Given the description of an element on the screen output the (x, y) to click on. 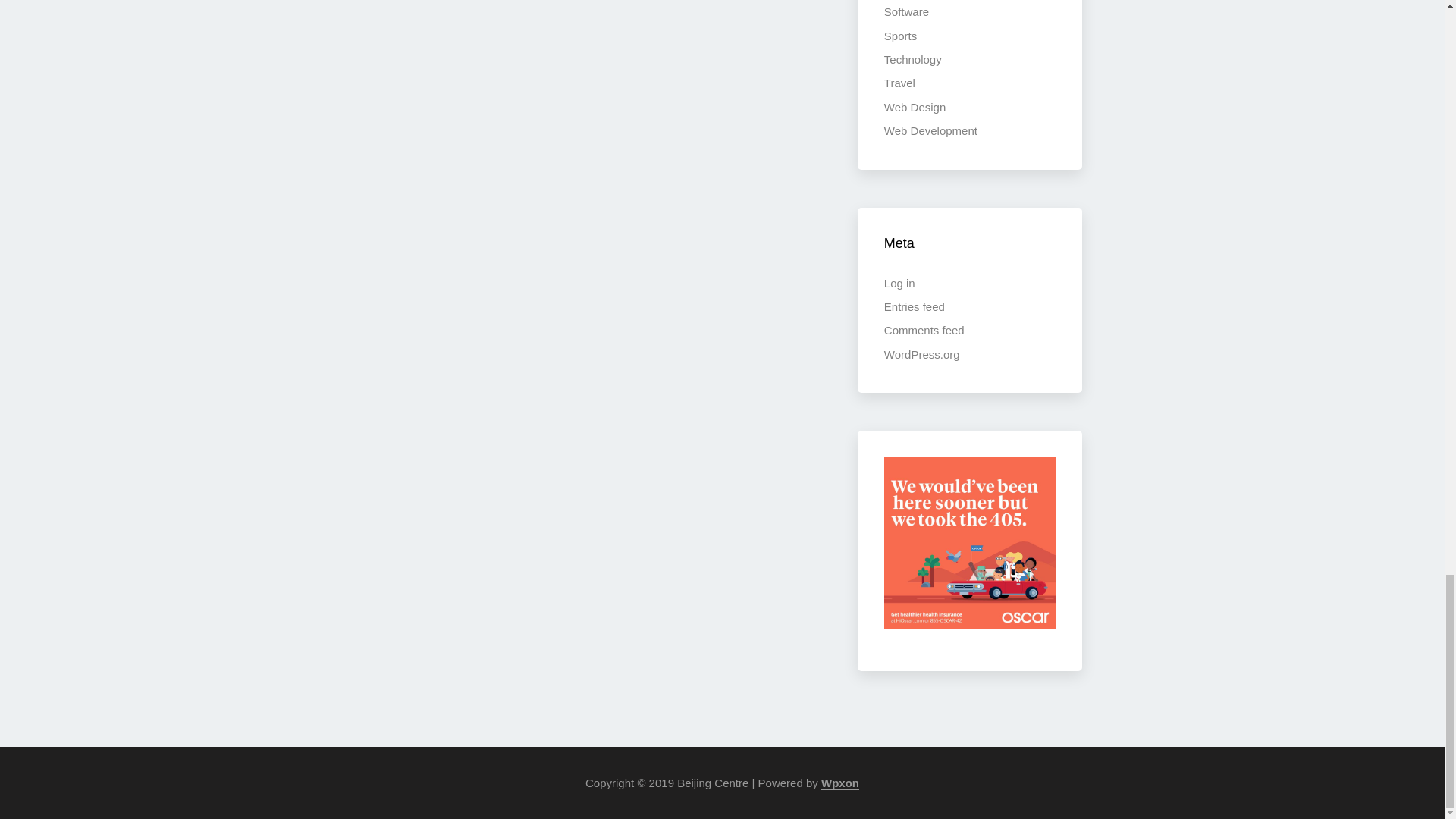
Sports (900, 35)
Software (905, 11)
